Given the description of an element on the screen output the (x, y) to click on. 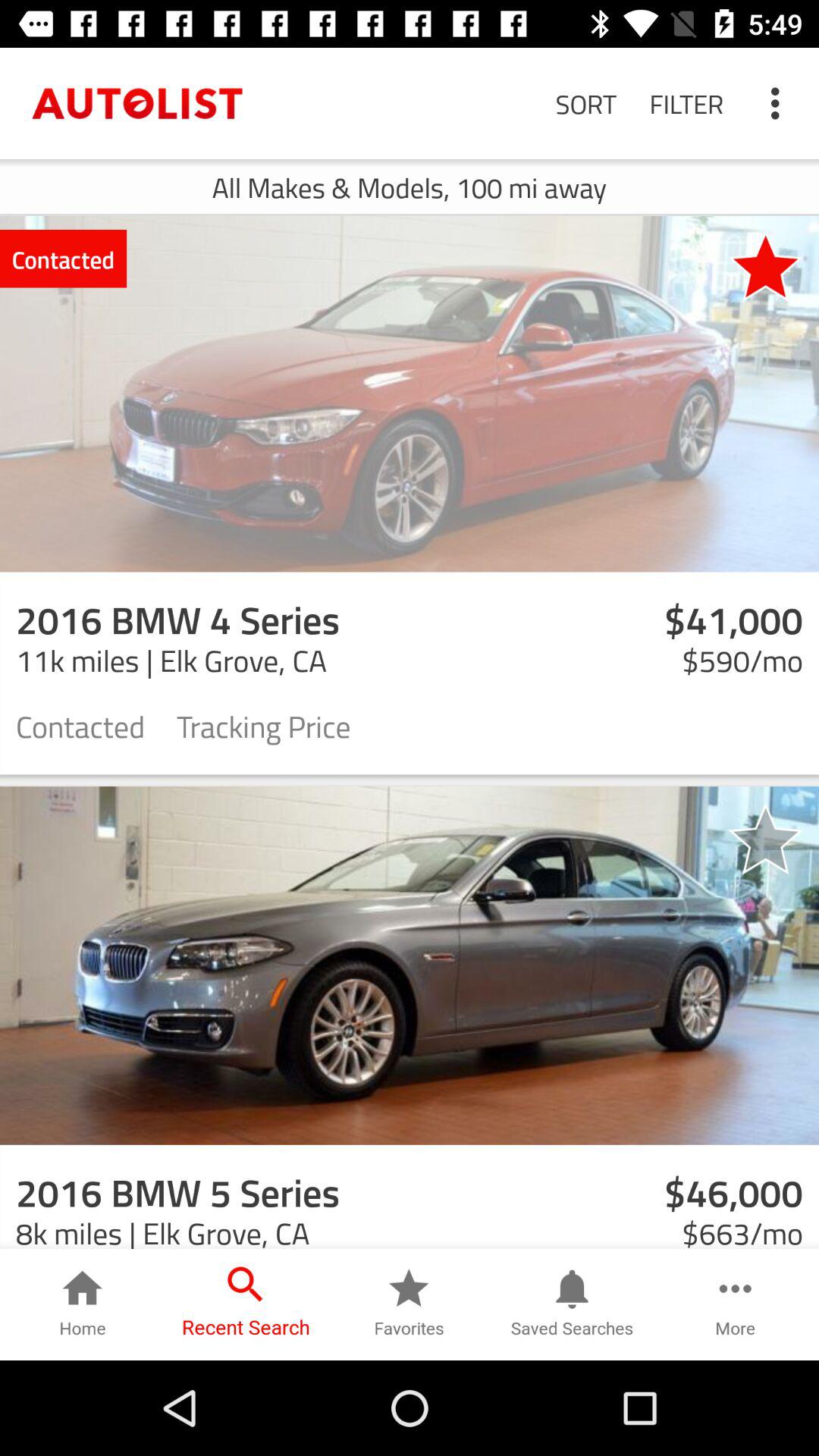
tap all makes models icon (409, 186)
